Given the description of an element on the screen output the (x, y) to click on. 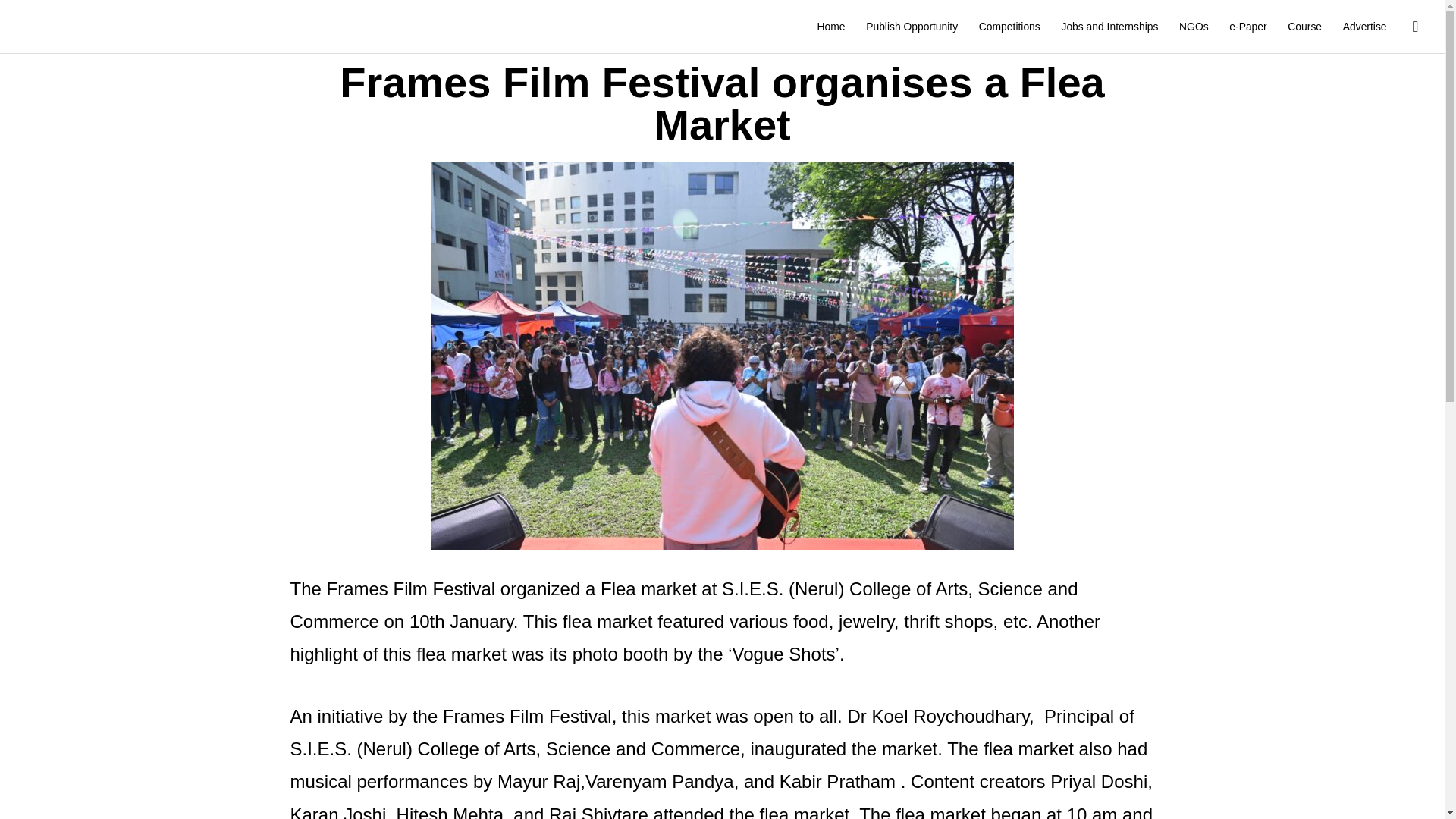
Competitions (1009, 26)
Advertise (1364, 26)
Publish Opportunity (912, 26)
NGOs (1193, 26)
Home (831, 26)
e-Paper (1247, 26)
Course (1304, 26)
Jobs and Internships (1110, 26)
